Given the description of an element on the screen output the (x, y) to click on. 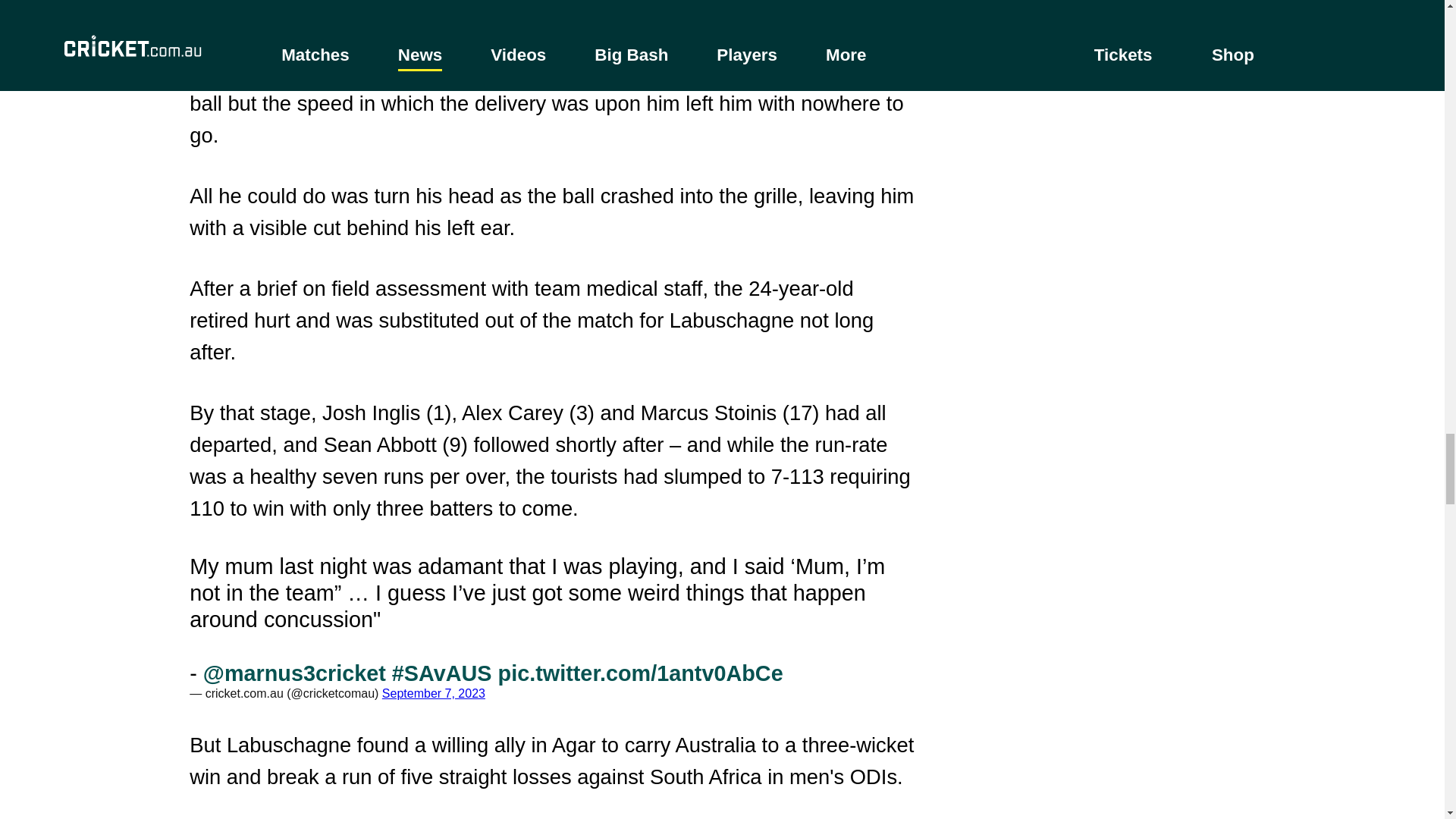
Australia bowl first as World Cup prep begins (552, 13)
Australia bowl first as World Cup prep begins (552, 13)
September 7, 2023 (432, 693)
